Given the description of an element on the screen output the (x, y) to click on. 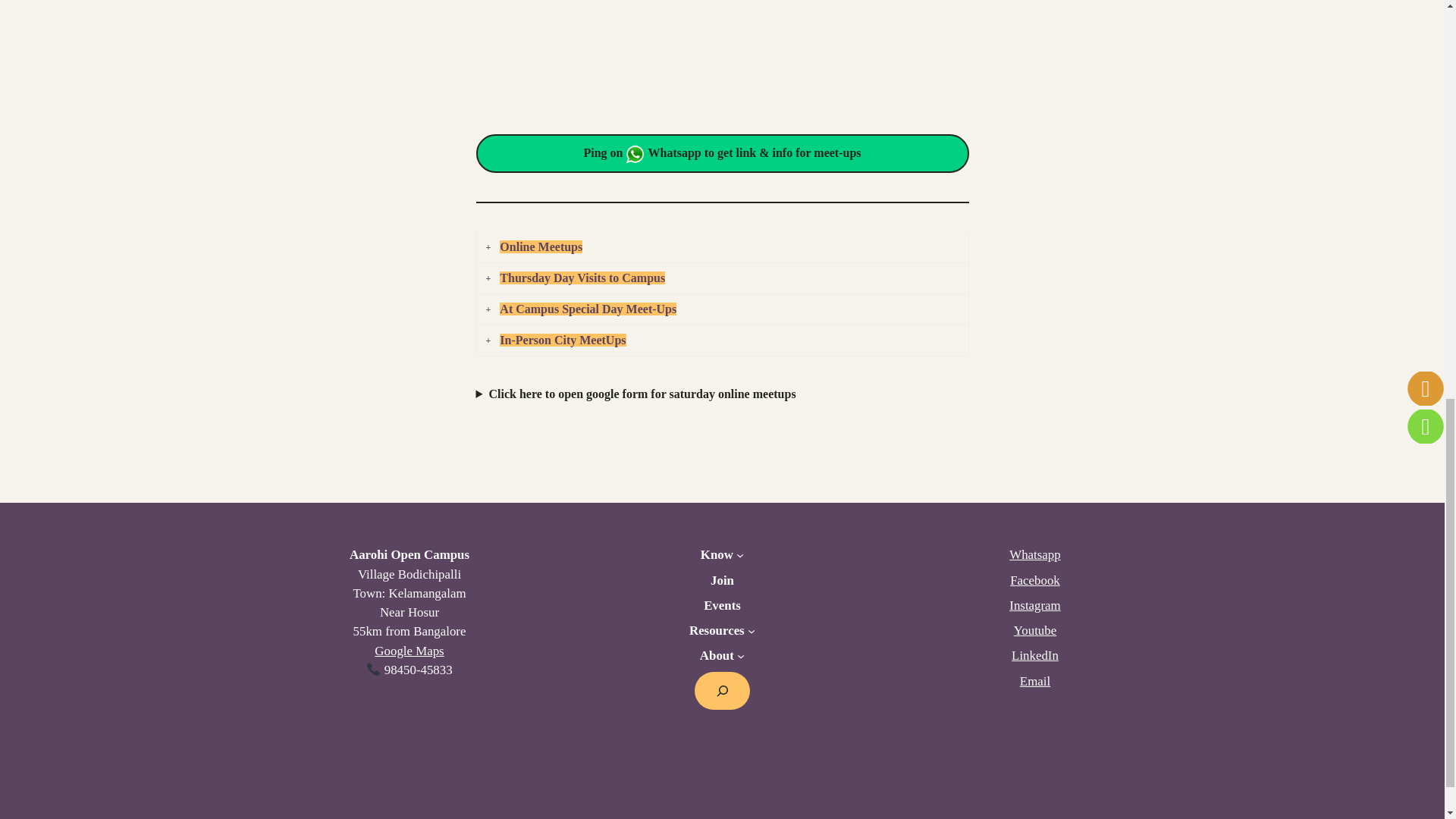
Thursday Day Visits to Campus (721, 278)
Google Maps (409, 650)
At Campus Special Day Meet-Ups (721, 309)
Know (716, 554)
In-Person City MeetUps (721, 340)
Online Meetups (721, 247)
